Given the description of an element on the screen output the (x, y) to click on. 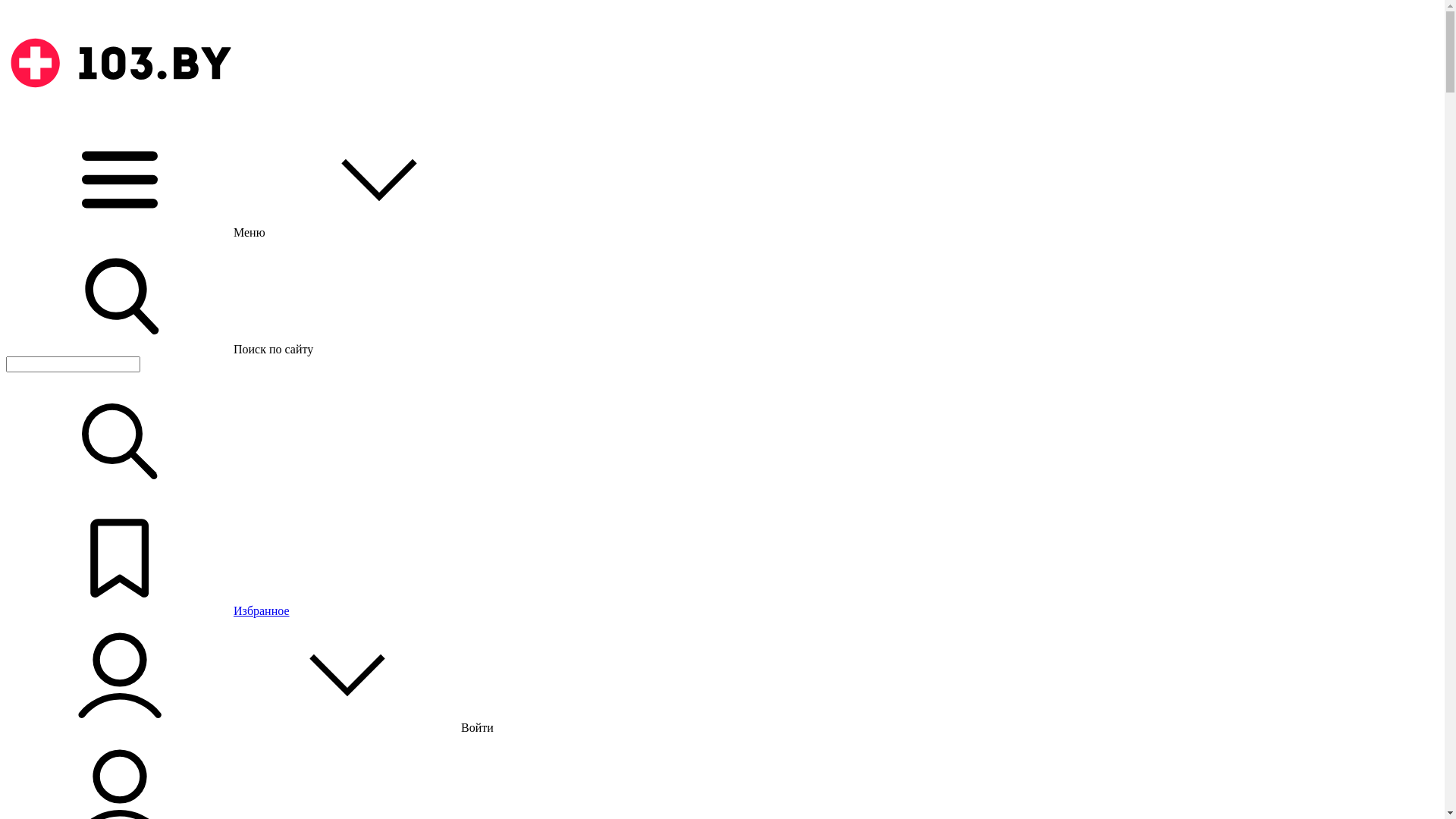
logo Element type: hover (119, 62)
logo Element type: hover (119, 115)
